Given the description of an element on the screen output the (x, y) to click on. 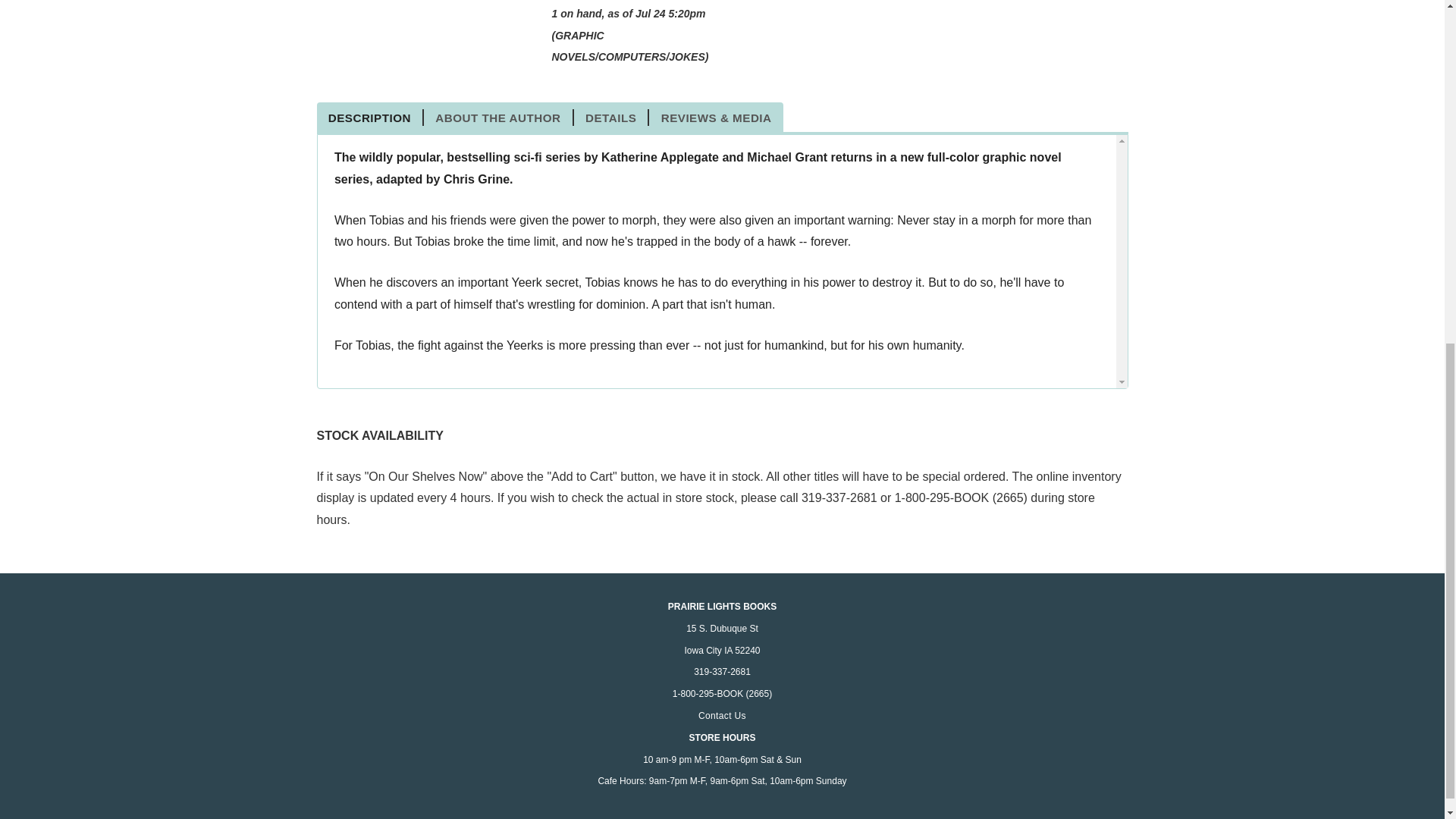
DETAILS (611, 117)
DESCRIPTION (371, 117)
ABOUT THE AUTHOR (498, 117)
contact us (721, 715)
Contact Us (721, 715)
